Given the description of an element on the screen output the (x, y) to click on. 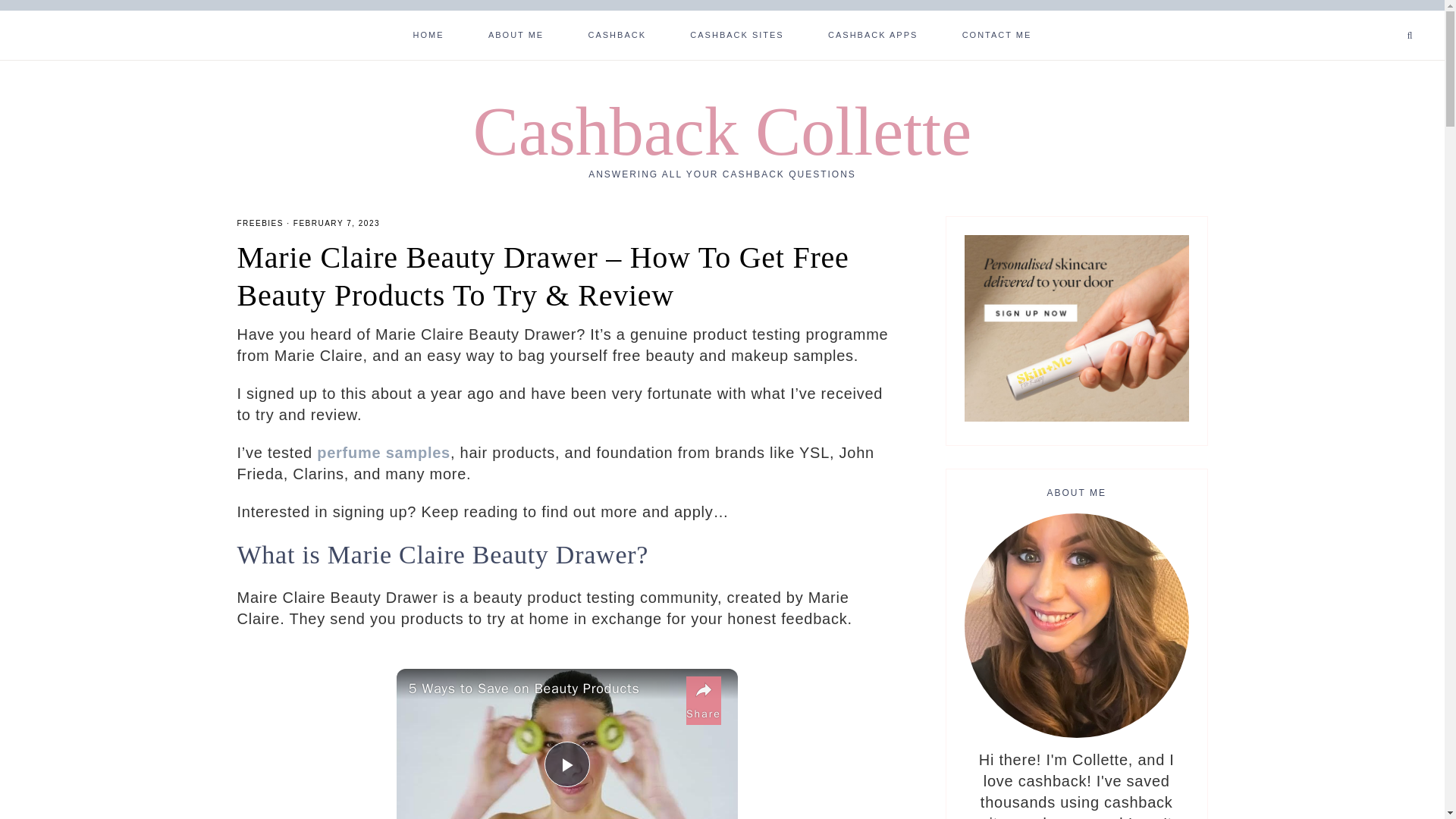
Cashback Collette (722, 131)
CASHBACK (617, 33)
CASHBACK SITES (736, 33)
CASHBACK APPS (872, 33)
Play Video (566, 764)
HOME (428, 33)
FREEBIES (258, 223)
5 Ways to Save on Beauty Products (543, 688)
ABOUT ME (515, 33)
Play Video (566, 764)
perfume samples (383, 452)
CONTACT ME (996, 33)
